Given the description of an element on the screen output the (x, y) to click on. 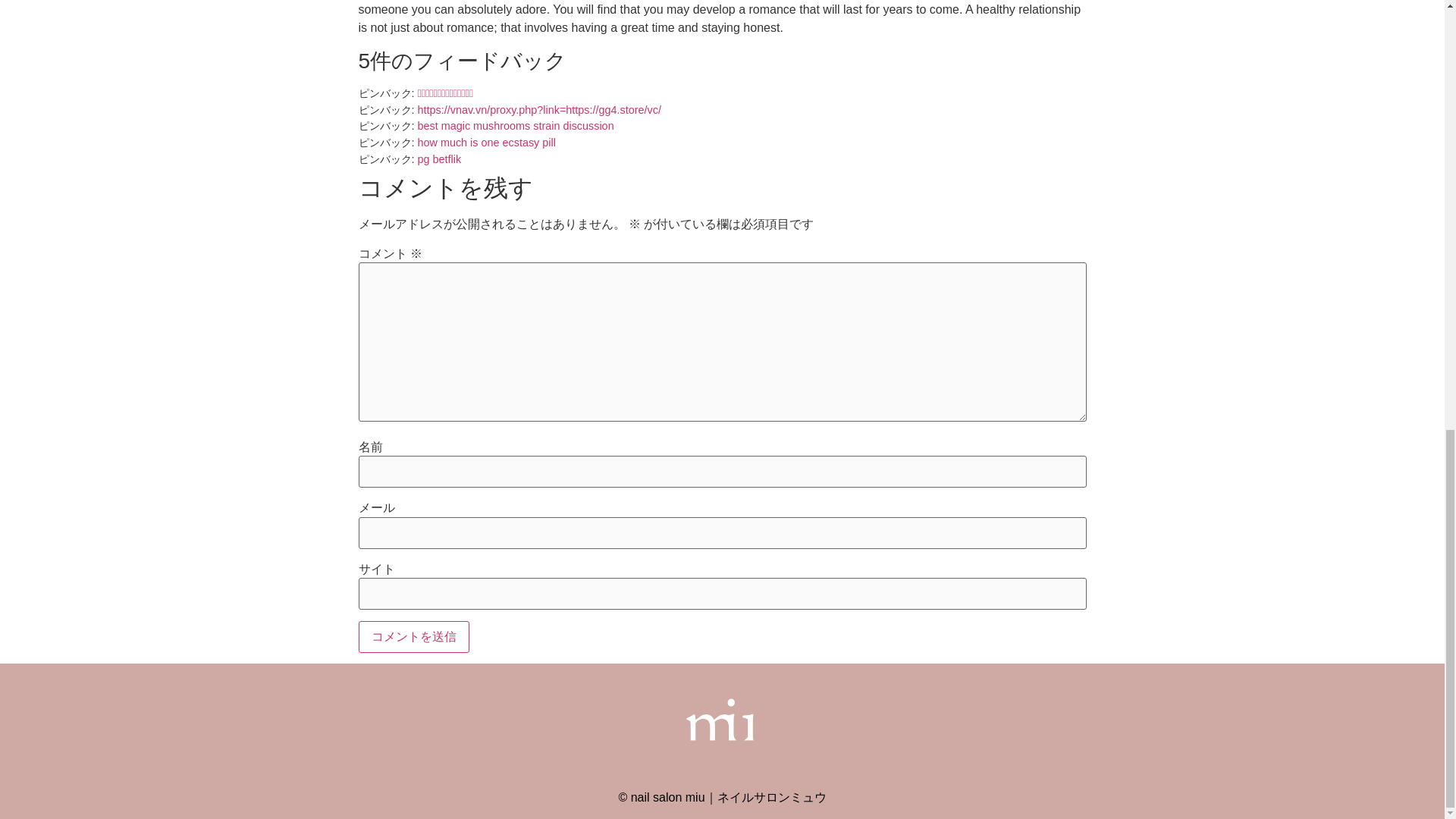
how much is one ecstasy pill (485, 142)
best magic mushrooms strain discussion (514, 125)
pg betflik (438, 159)
